Given the description of an element on the screen output the (x, y) to click on. 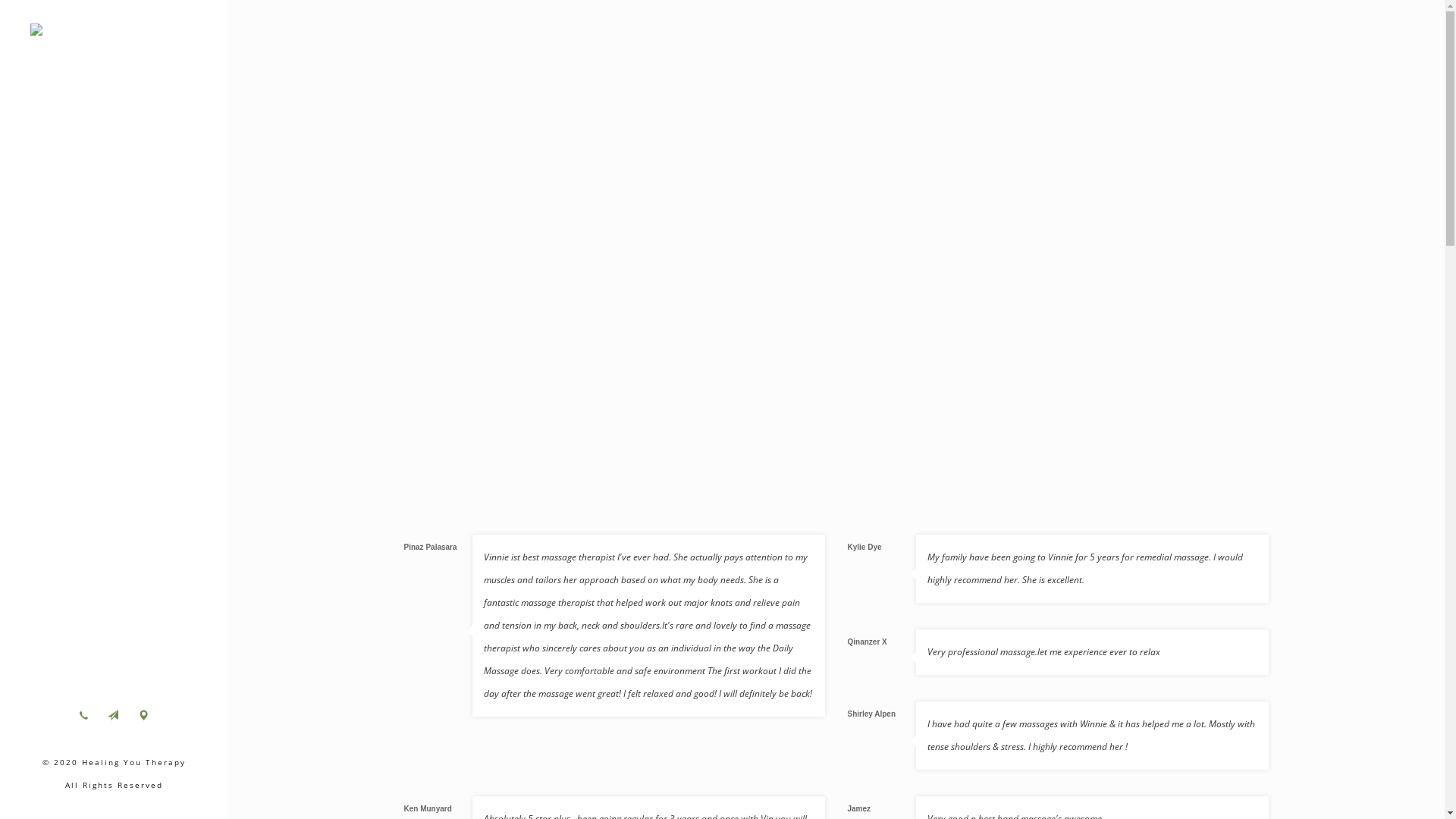
Massage Therapist Slacks Creek Element type: hover (113, 34)
Location Element type: hover (143, 715)
Phone Element type: hover (82, 715)
Email Element type: hover (112, 715)
